Given the description of an element on the screen output the (x, y) to click on. 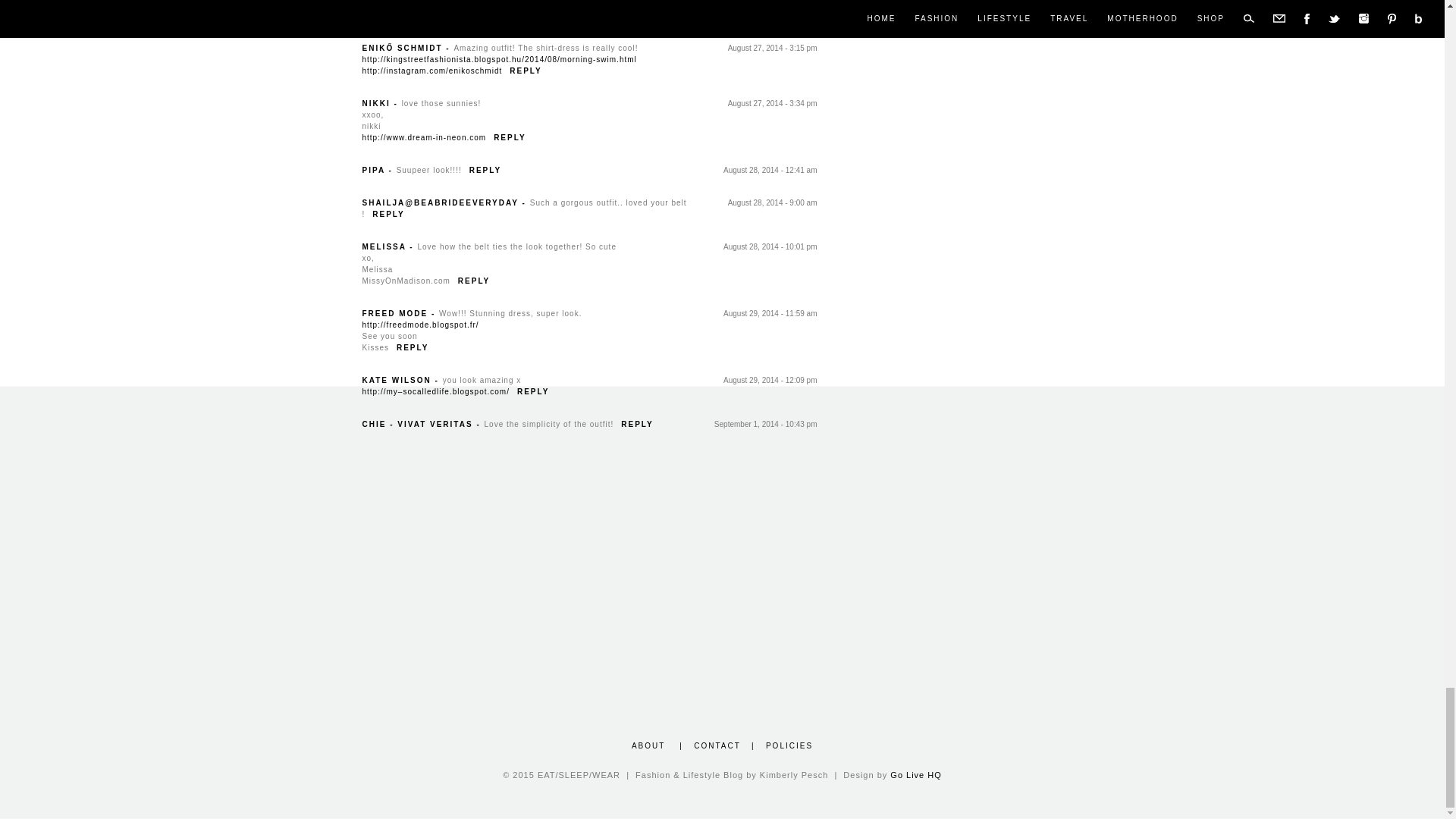
Post Comment (439, 19)
